Given the description of an element on the screen output the (x, y) to click on. 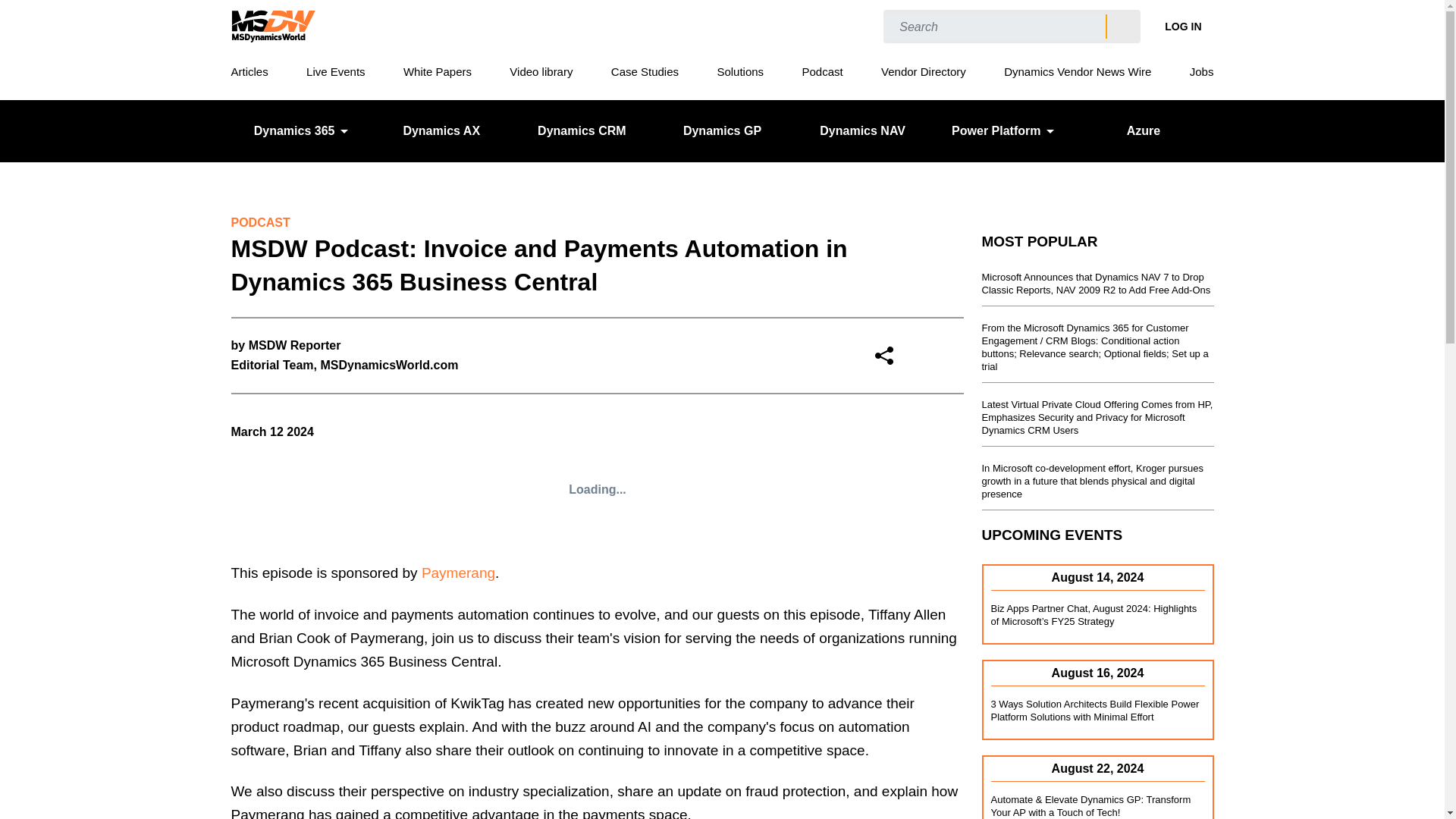
LOG IN (1182, 26)
Dynamics CRM (582, 130)
Dynamics AX (441, 130)
Video library (540, 71)
Case Studies (644, 71)
Search (1122, 27)
Embed Player (596, 489)
Search (1122, 27)
White Papers (437, 71)
Dynamics Vendor News Wire (1077, 71)
